Given the description of an element on the screen output the (x, y) to click on. 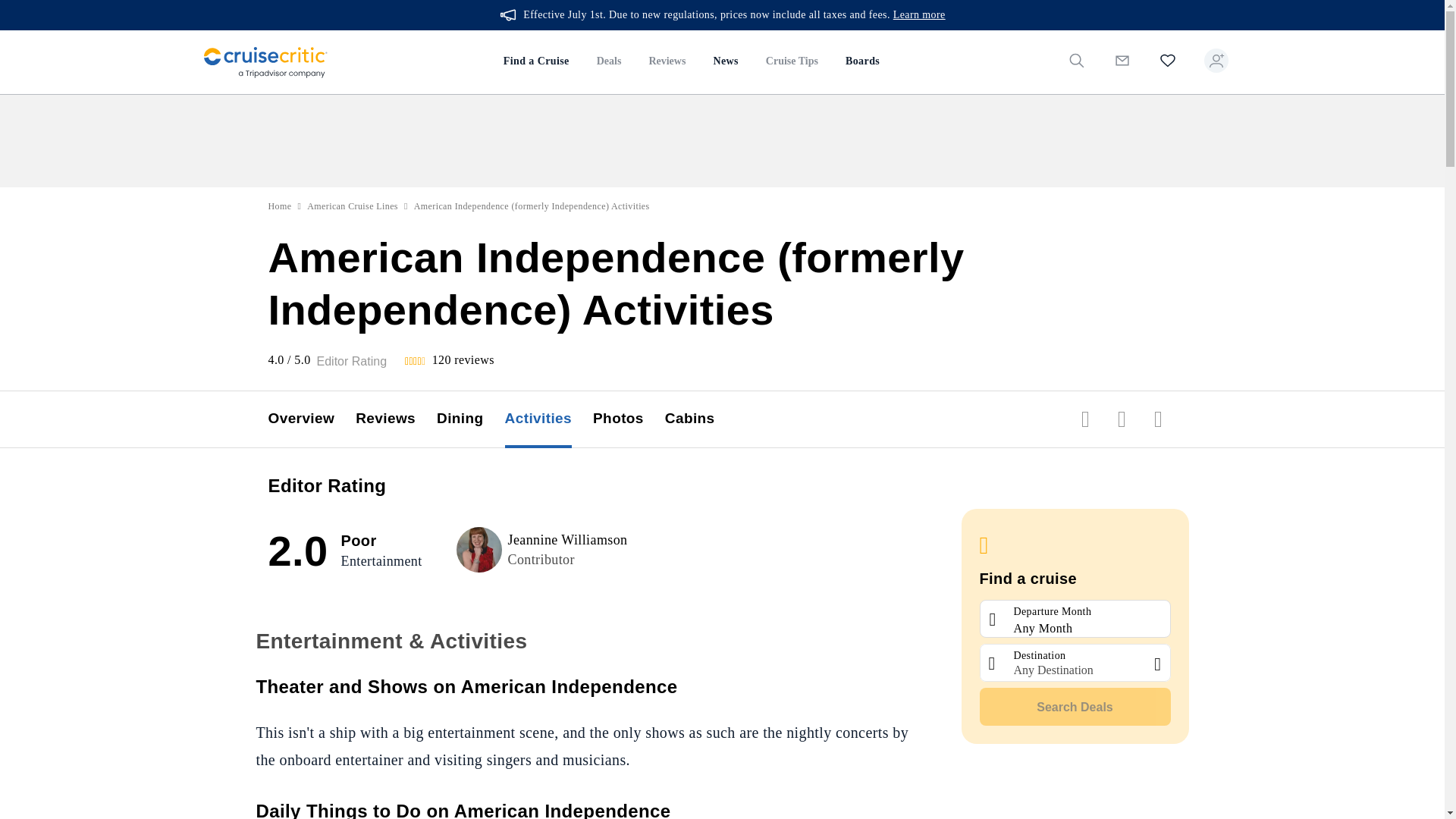
American Cruise Lines (352, 205)
Cabins (700, 419)
Search Deals (1074, 706)
Dining (470, 419)
Reviews (666, 62)
Activities (548, 419)
Boards (861, 62)
Entertainment (381, 560)
Find a Cruise (536, 62)
Home (279, 205)
Photos (628, 419)
Overview (311, 419)
Learn more (918, 15)
Editor Rating (352, 360)
Cruise Tips (791, 62)
